Given the description of an element on the screen output the (x, y) to click on. 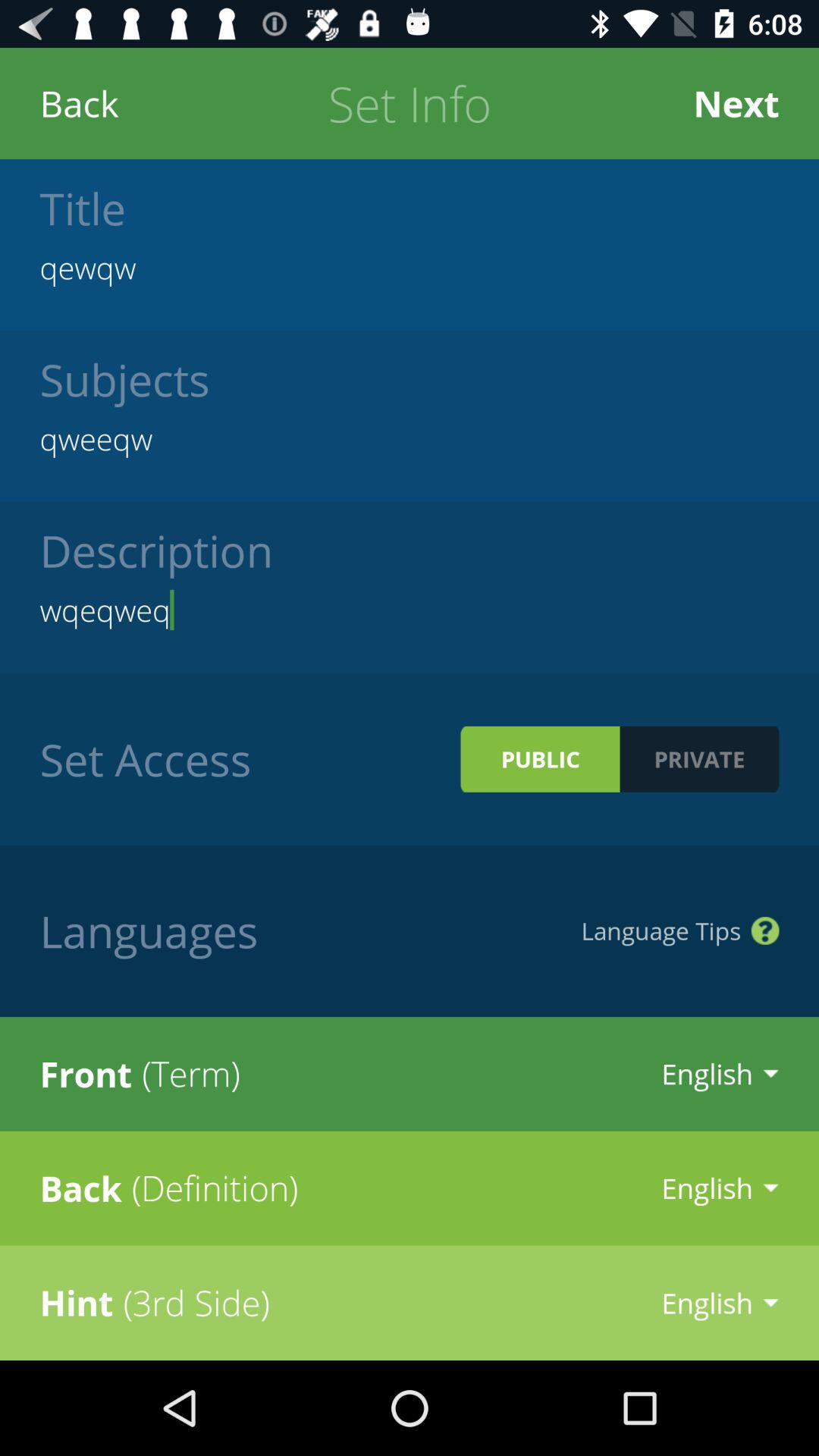
scroll until private (699, 759)
